Given the description of an element on the screen output the (x, y) to click on. 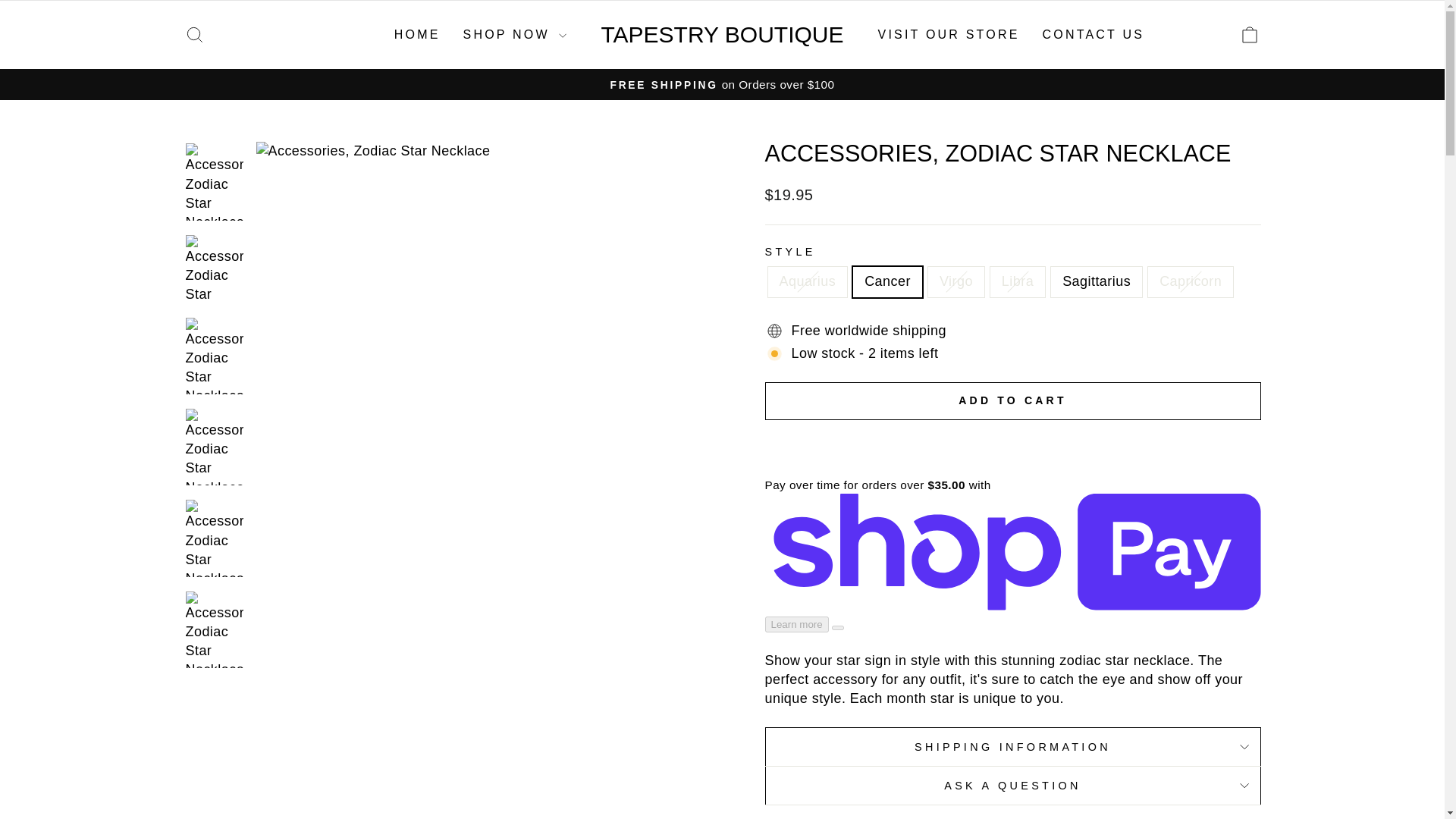
ICON-SEARCH (194, 34)
CONTACT US (1093, 34)
Capricorn (194, 34)
ICON-BAG-MINIMAL (416, 34)
Cancer (1249, 34)
TAPESTRY BOUTIQUE (948, 34)
Sagittarius (721, 34)
